Given the description of an element on the screen output the (x, y) to click on. 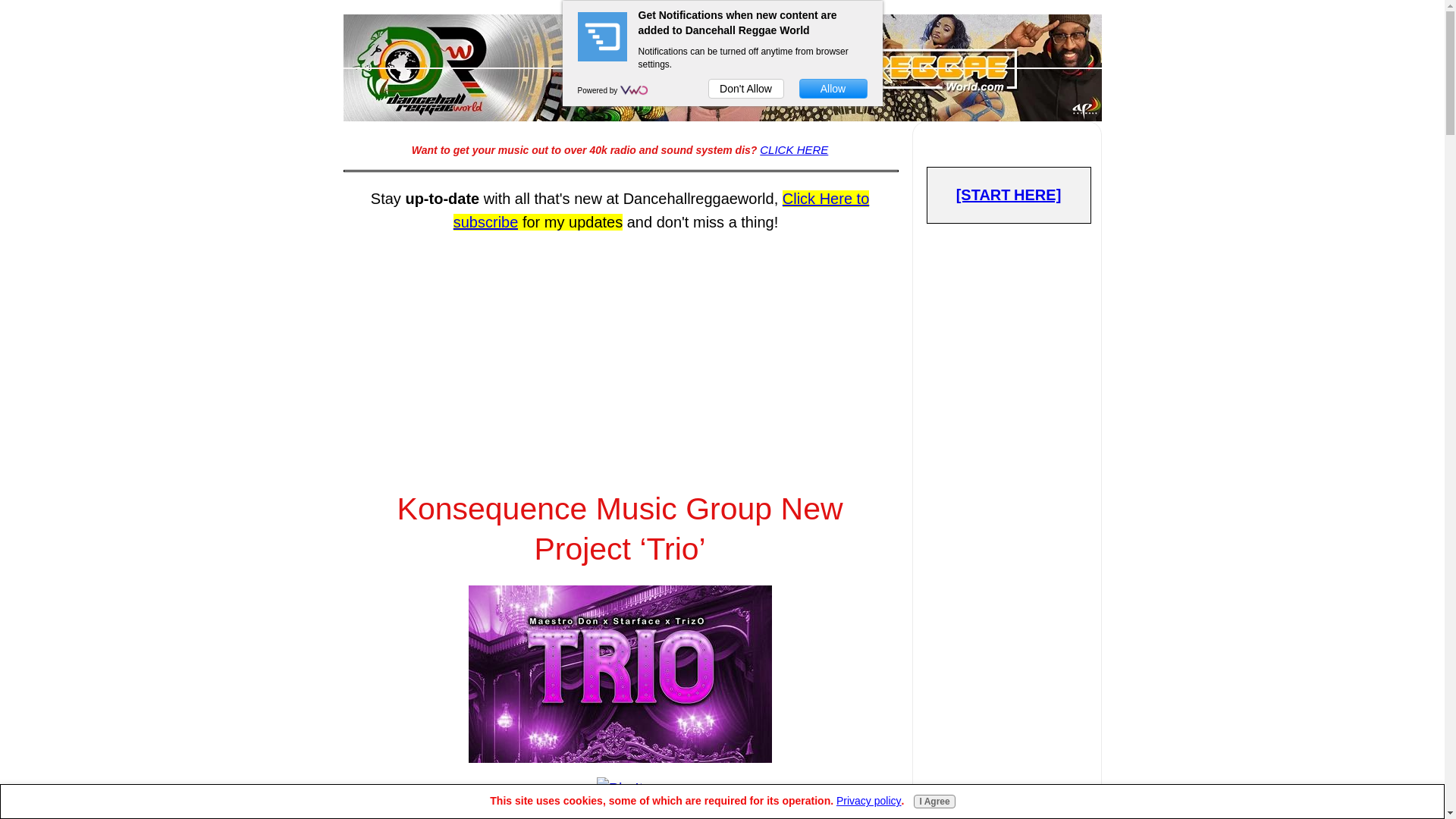
CLICK HERE (794, 150)
Advertisement (1008, 764)
Pin It (619, 788)
Advertisement (619, 347)
Click Here to subscribe (660, 210)
